Given the description of an element on the screen output the (x, y) to click on. 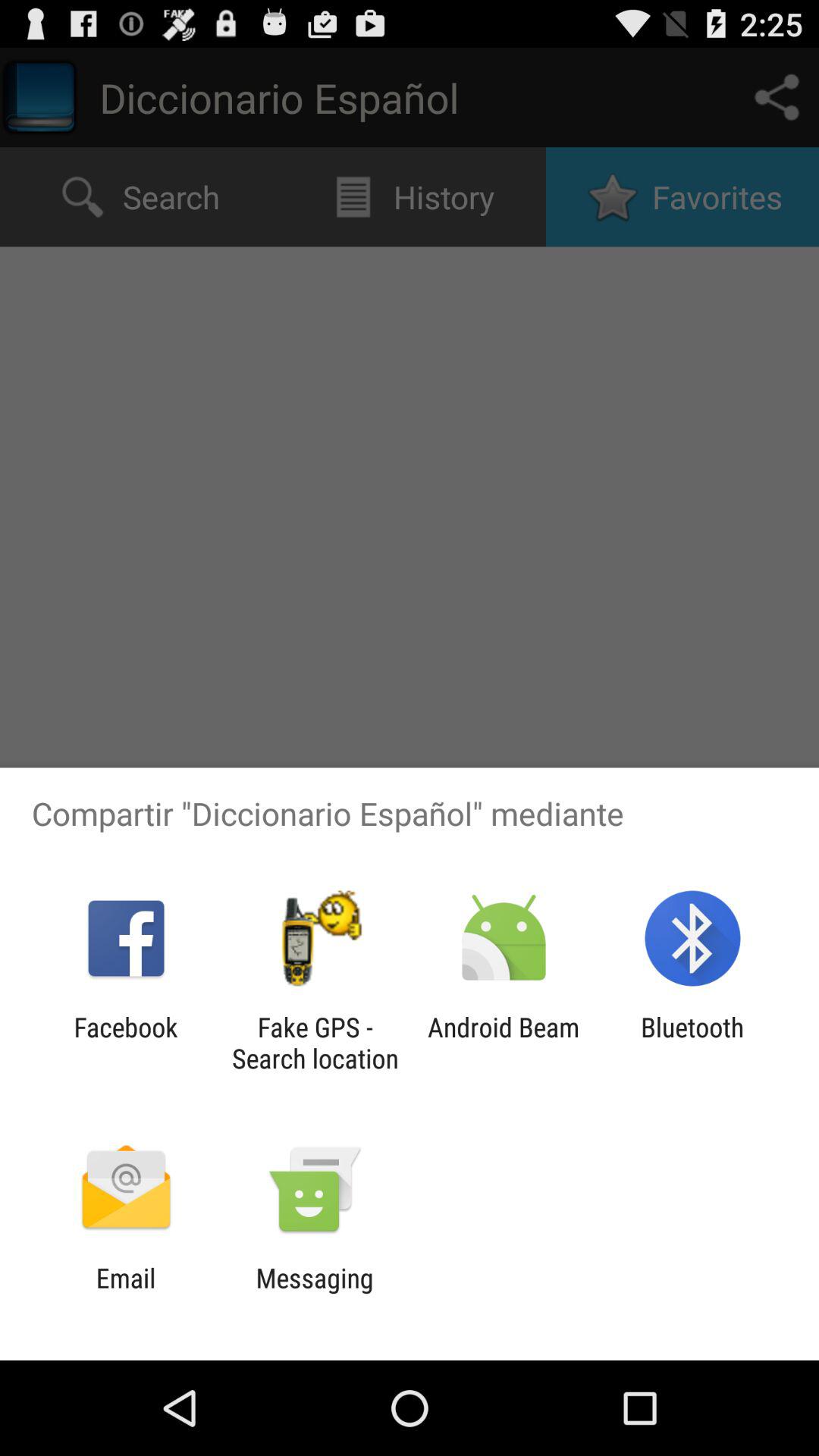
jump to fake gps search item (314, 1042)
